Given the description of an element on the screen output the (x, y) to click on. 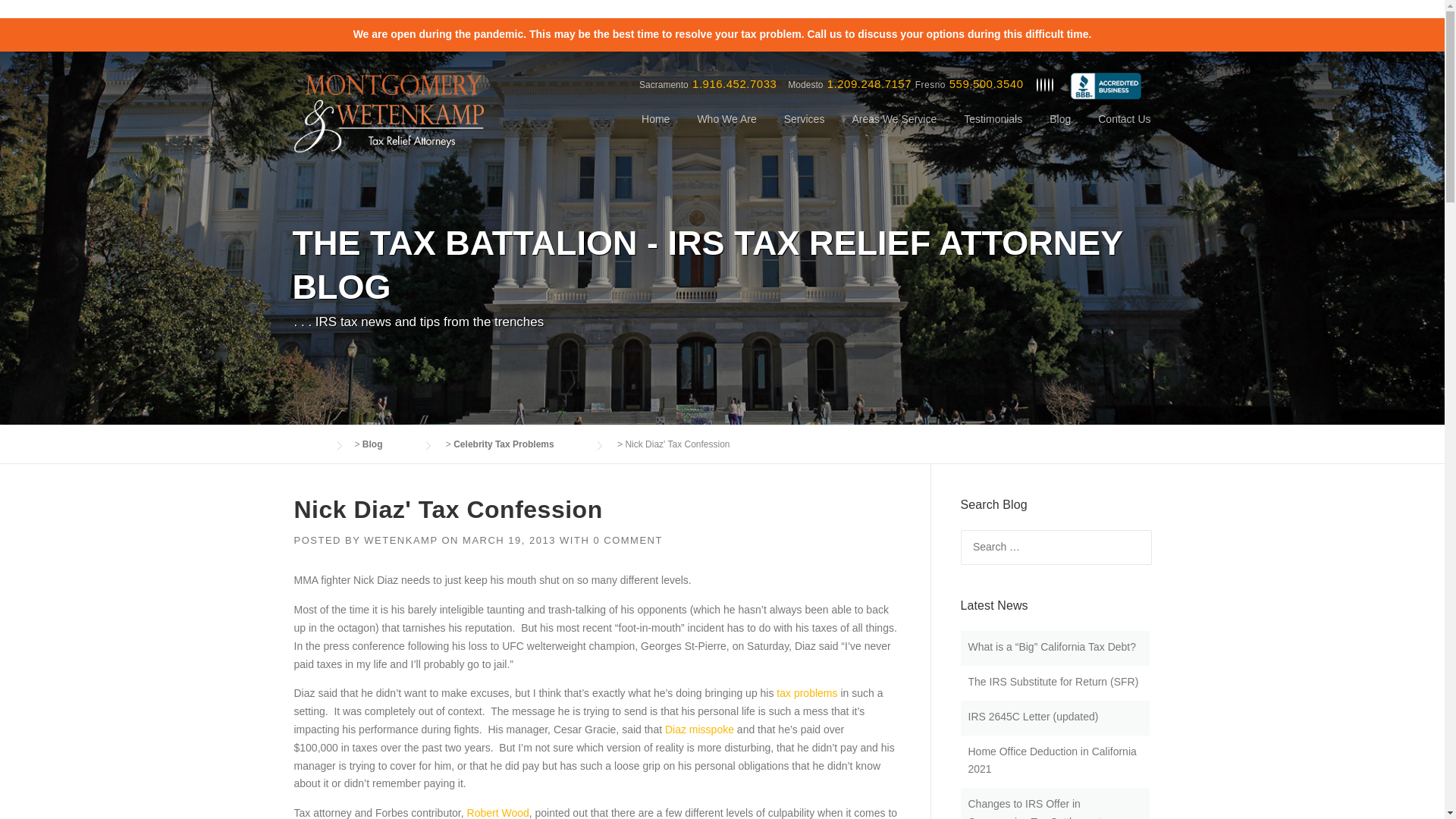
Blog (387, 443)
0 COMMENT (627, 540)
Who We Are (726, 130)
tax problems (806, 693)
MARCH 19, 2013 (509, 540)
Celebrity Tax Problems (518, 443)
Go to the Celebrity Tax Problems category archives. (518, 443)
Home (654, 130)
1.916.452.7033 (734, 83)
Changes to IRS Offer in Compromise Tax Settlement Procedures (1034, 808)
Go to Blog. (387, 443)
Blog (1059, 130)
559.500.3540 (986, 83)
